Given the description of an element on the screen output the (x, y) to click on. 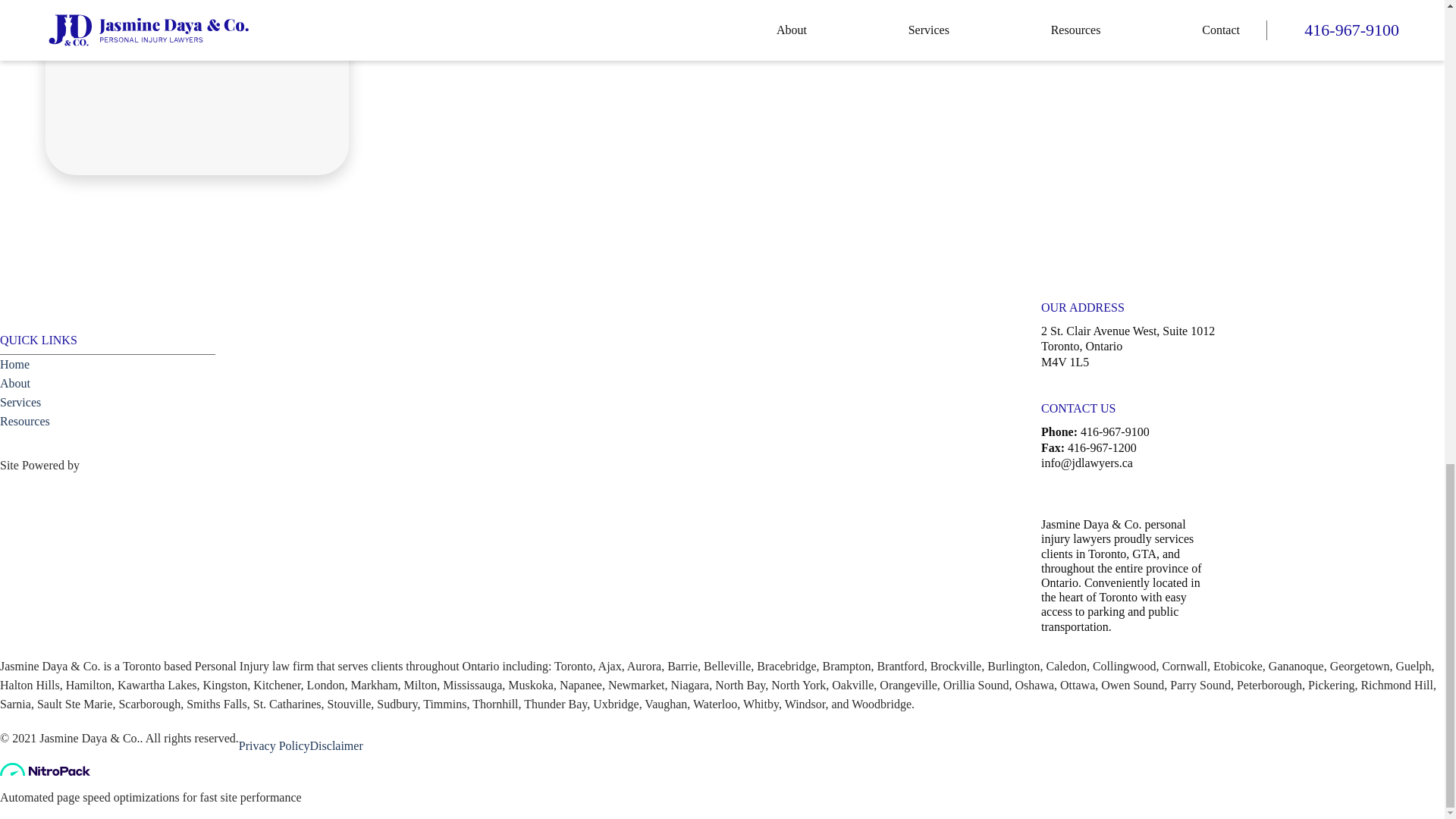
Resources (24, 420)
About (15, 382)
Home (14, 364)
Services (20, 401)
